Given the description of an element on the screen output the (x, y) to click on. 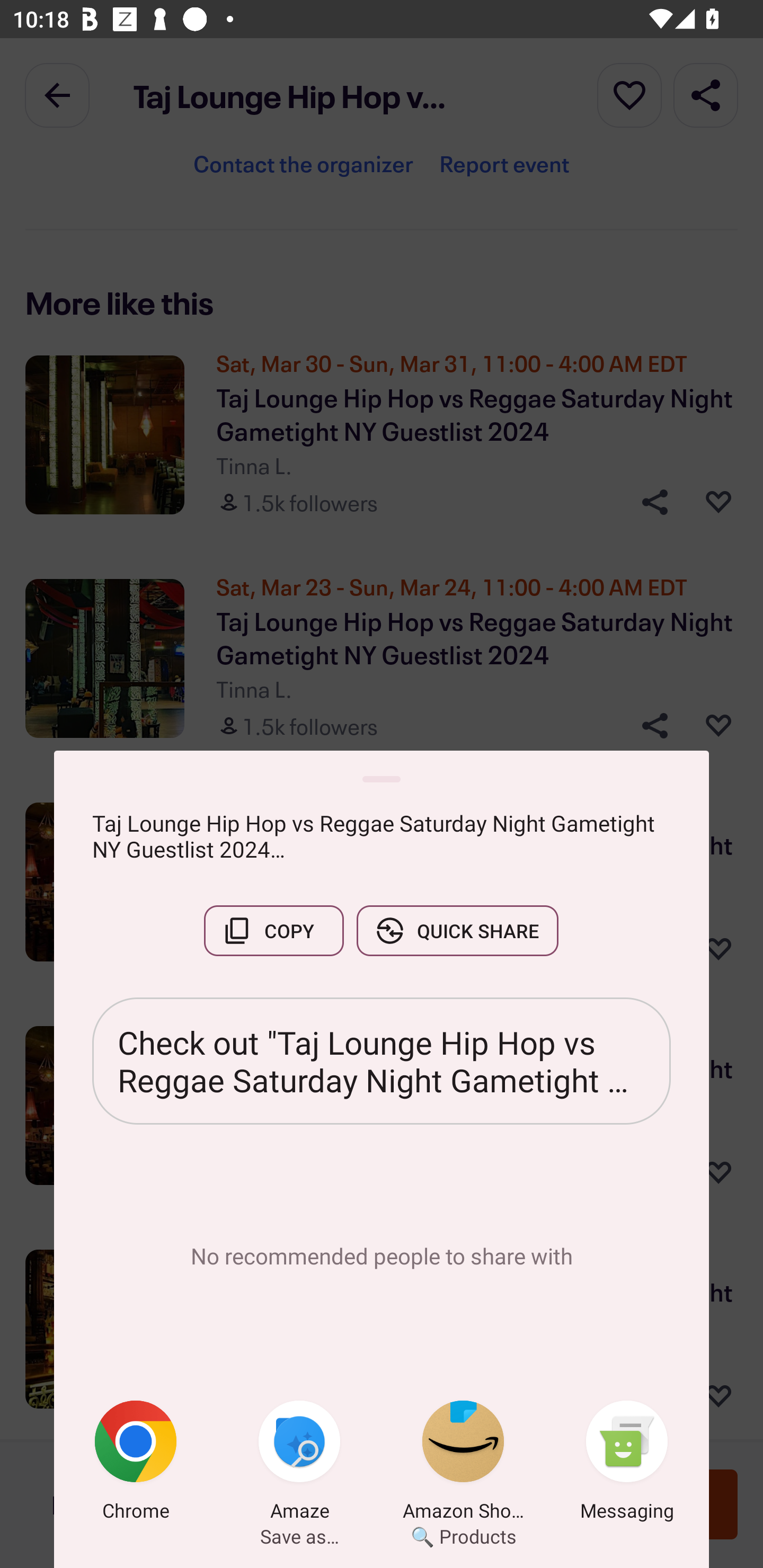
COPY (273, 930)
QUICK SHARE (457, 930)
Chrome (135, 1463)
Amaze Save as… (299, 1463)
Amazon Shopping 🔍 Products (463, 1463)
Messaging (626, 1463)
